Given the description of an element on the screen output the (x, y) to click on. 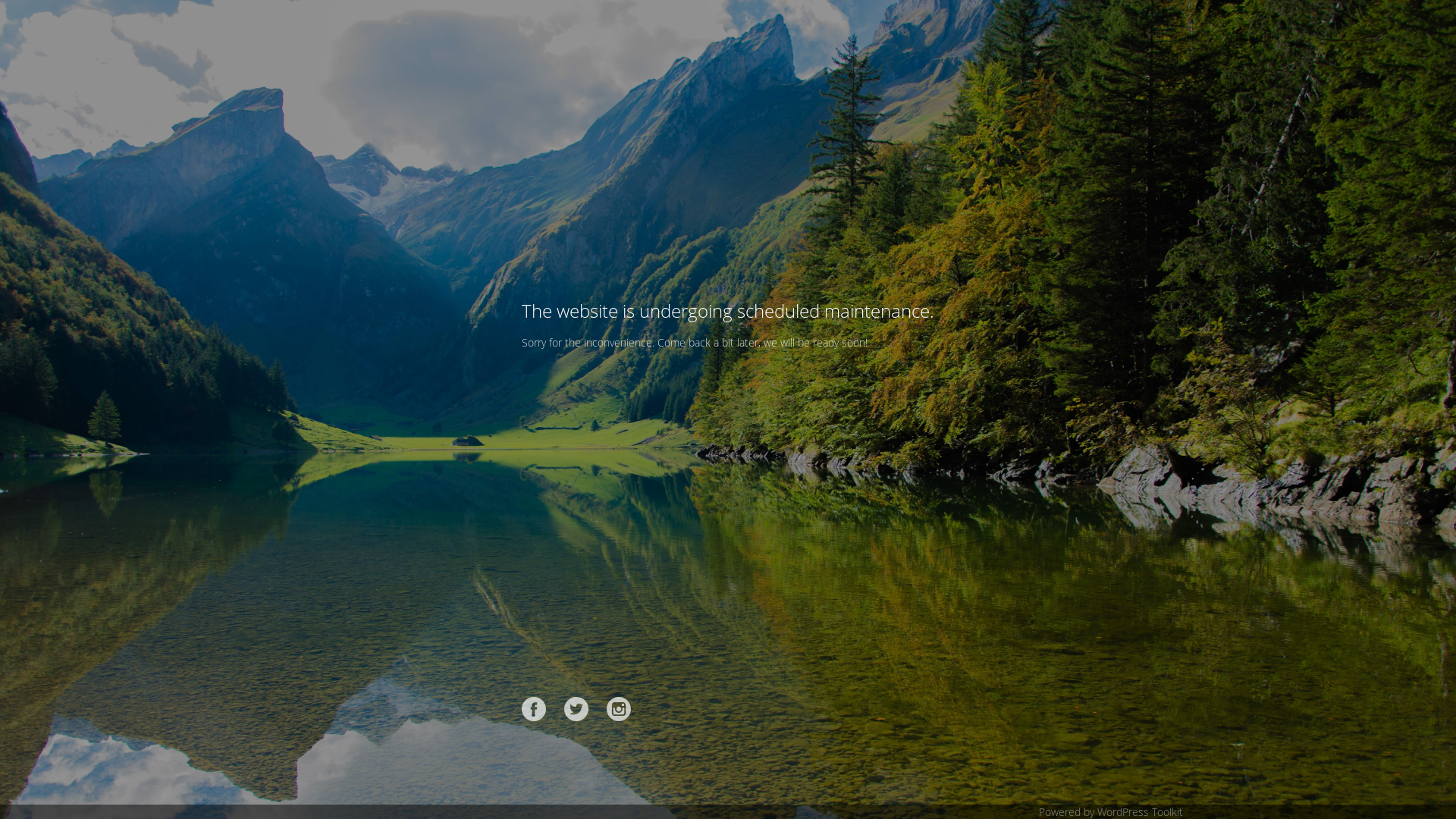
Facebook Element type: hover (533, 708)
Instagram Element type: hover (618, 708)
Twitter Element type: hover (576, 708)
